Given the description of an element on the screen output the (x, y) to click on. 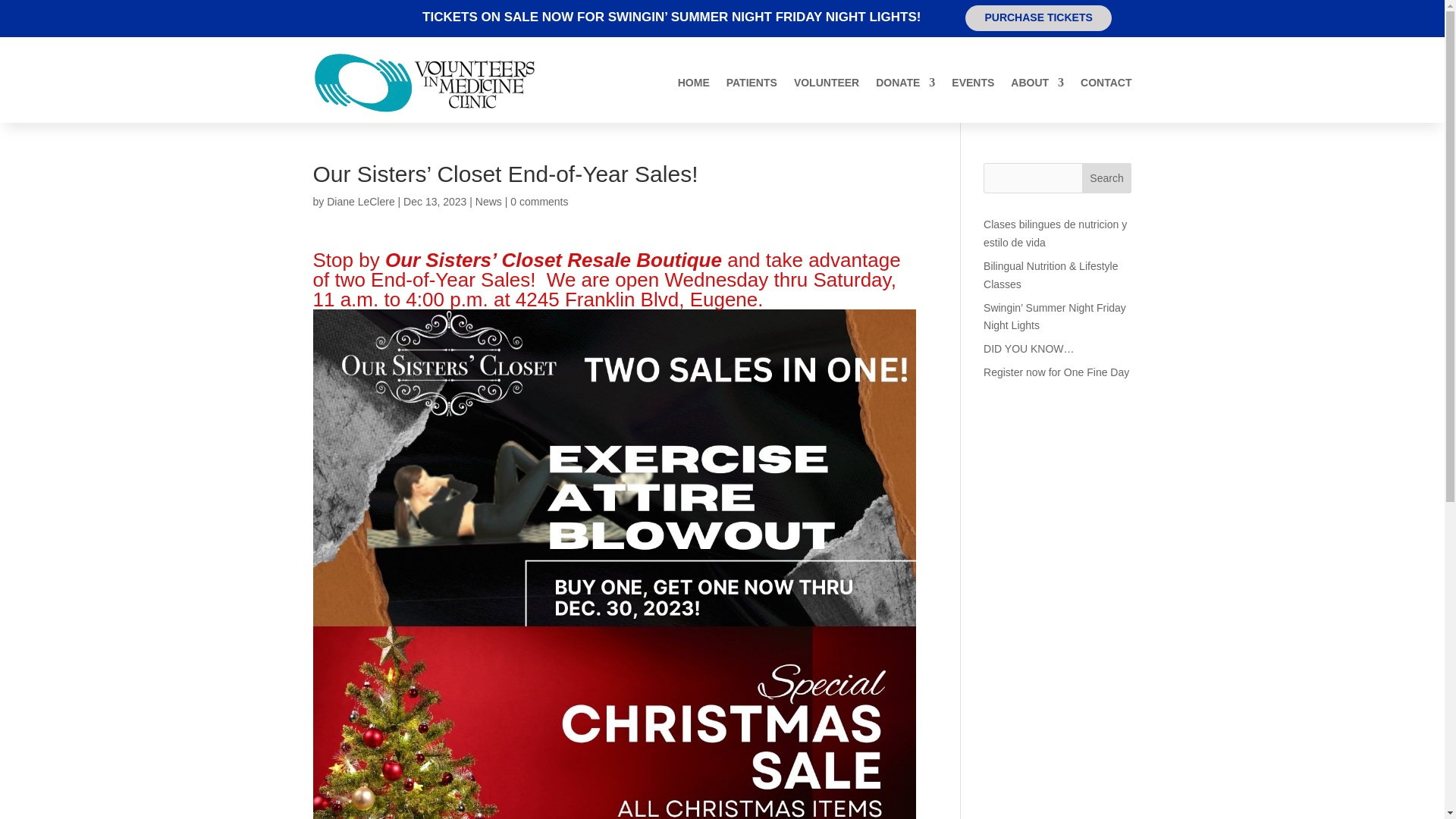
VOLUNTEER (826, 82)
DONATE (905, 82)
Posts by Diane LeClere (360, 201)
PURCHASE TICKETS (1037, 17)
